Given the description of an element on the screen output the (x, y) to click on. 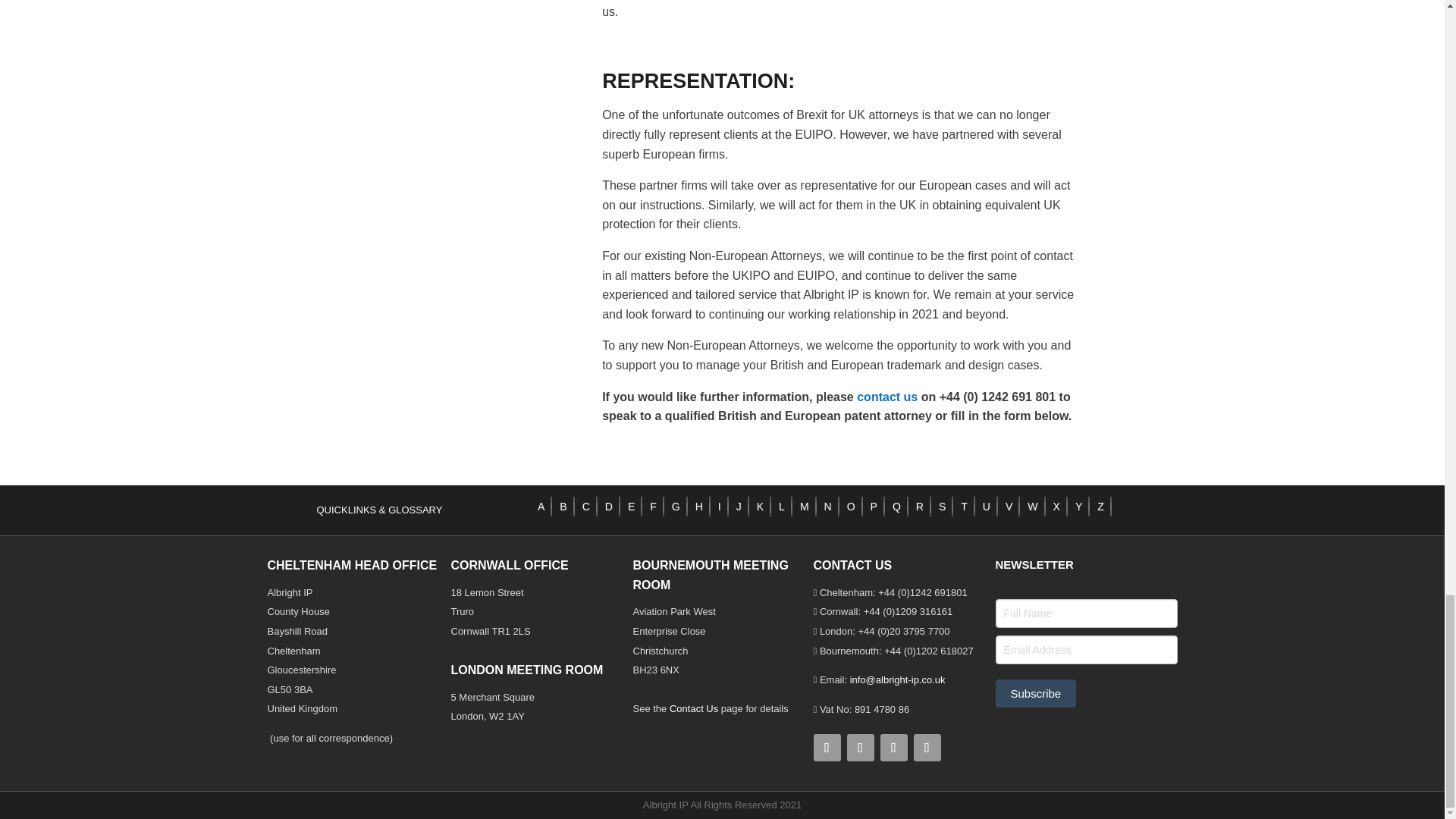
Subscribe (1034, 693)
